Given the description of an element on the screen output the (x, y) to click on. 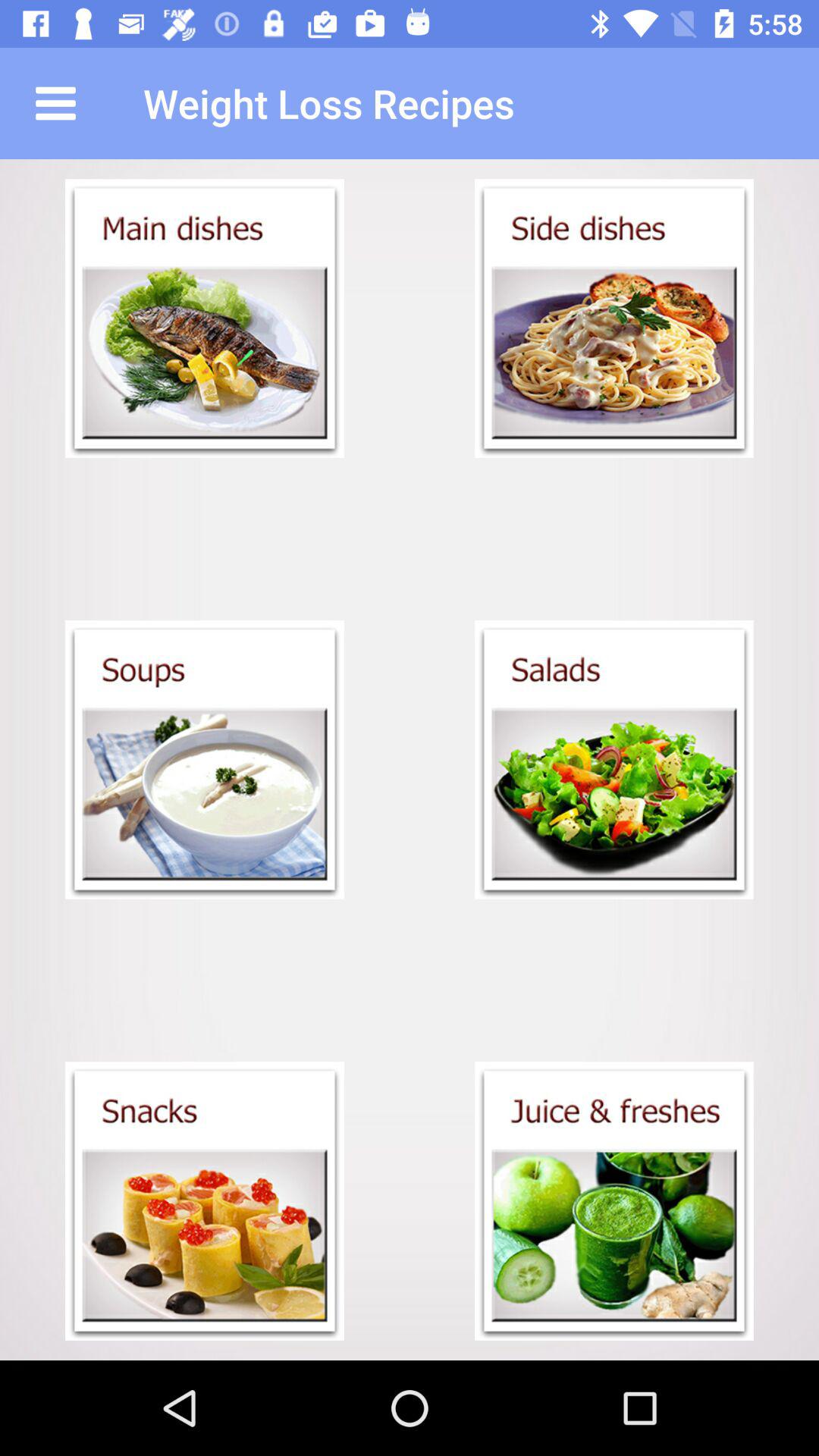
view main dishes (204, 318)
